Given the description of an element on the screen output the (x, y) to click on. 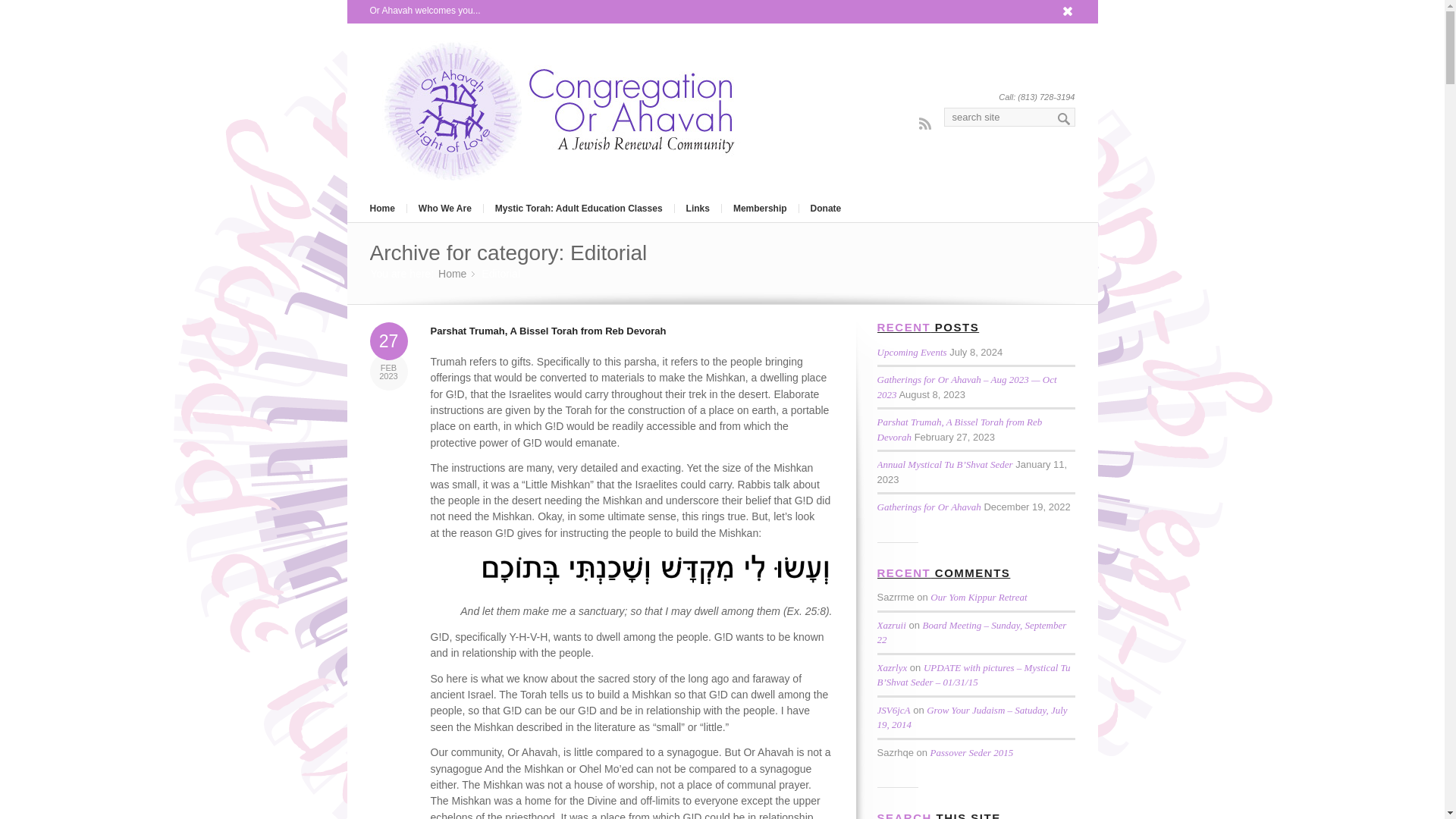
Permanent Link: Archive for category: Editorial (508, 252)
Gatherings for Or Ahavah (927, 506)
Parshat Trumah, A Bissel Torah from Reb Devorah (548, 330)
Archive for category: Editorial (508, 252)
Links (697, 207)
Who We Are (444, 207)
Home (451, 274)
Orahavah.org Rabbi Debrah Shenefelt (451, 274)
search site (1008, 116)
Page 1 (631, 684)
Membership (758, 207)
x (1067, 10)
Parshat Trumah, A Bissel Torah from Reb Devorah (959, 429)
Upcoming Events (911, 351)
